Given the description of an element on the screen output the (x, y) to click on. 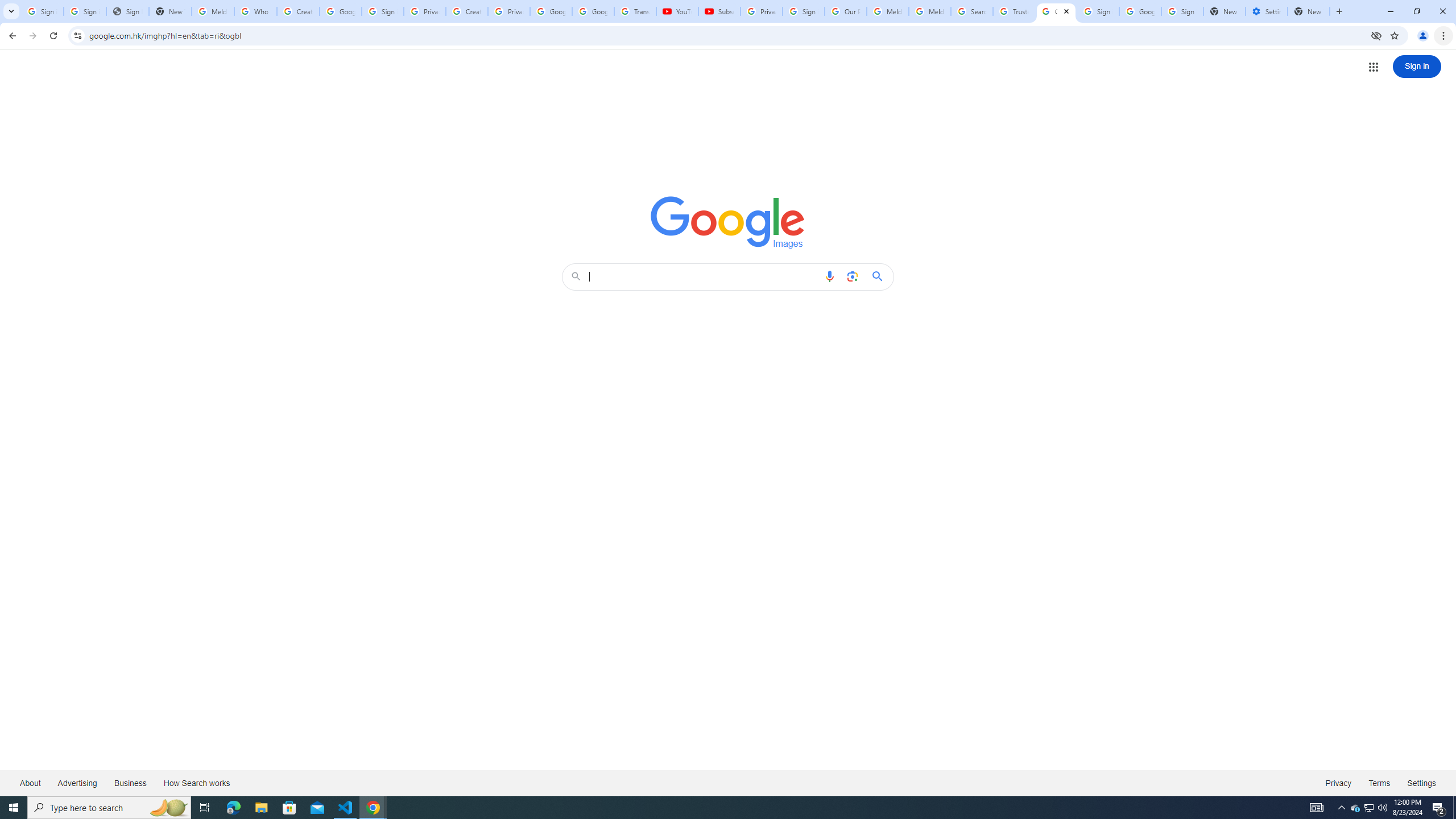
Sign in - Google Accounts (803, 11)
Google Images (727, 222)
Subscriptions - YouTube (719, 11)
Search our Doodle Library Collection - Google Doodles (972, 11)
